Given the description of an element on the screen output the (x, y) to click on. 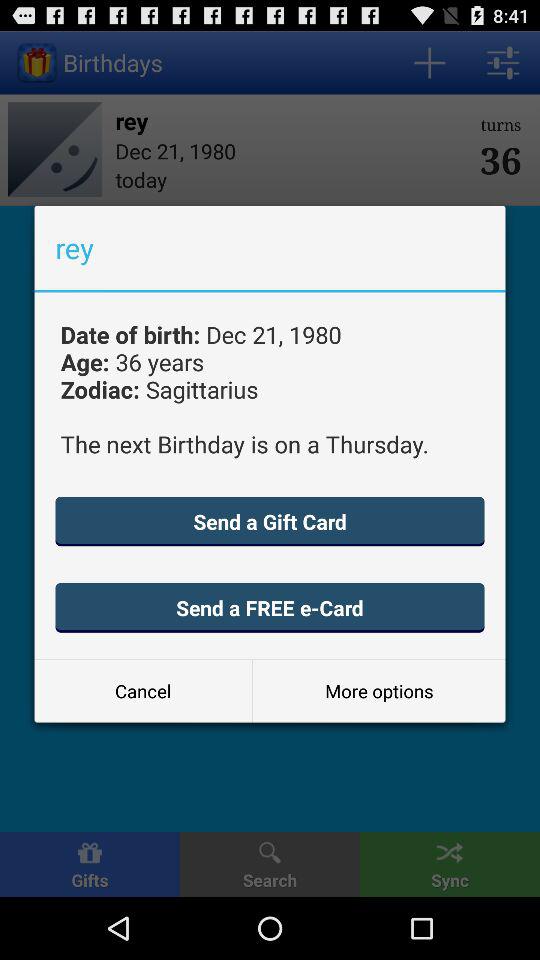
turn on more options icon (378, 690)
